Given the description of an element on the screen output the (x, y) to click on. 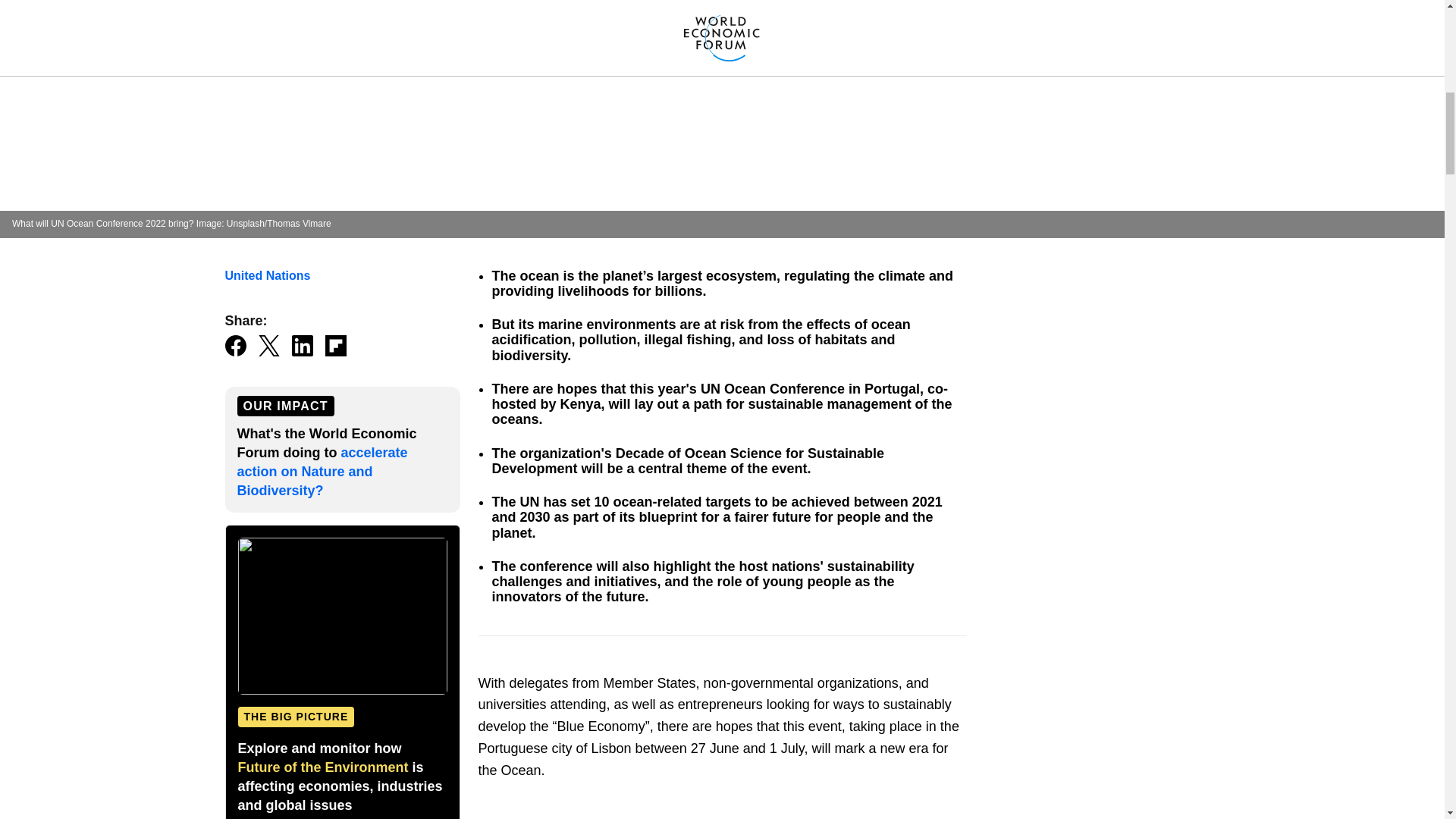
United Nations (267, 275)
